Given the description of an element on the screen output the (x, y) to click on. 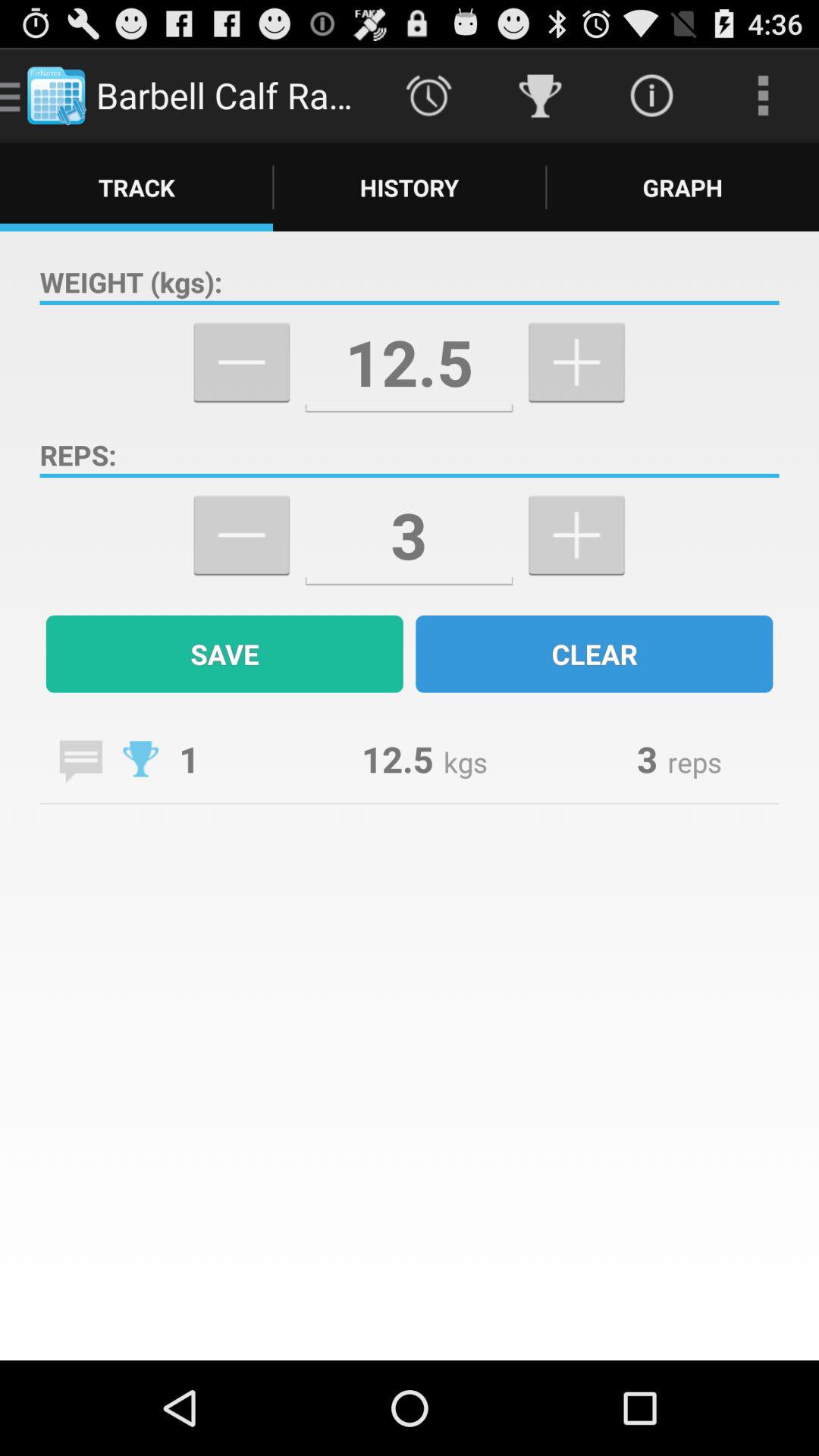
open trophies (140, 758)
